Given the description of an element on the screen output the (x, y) to click on. 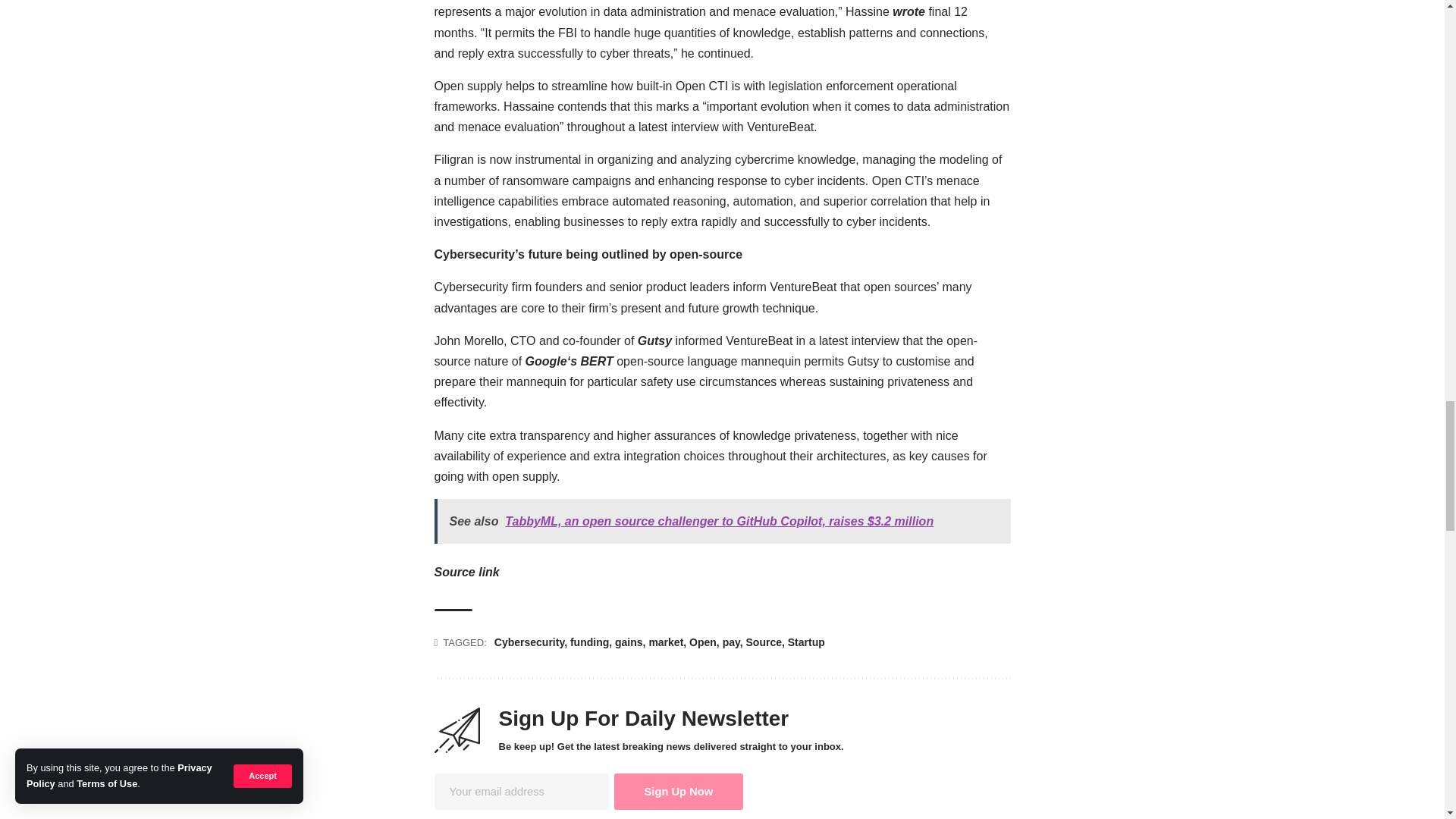
Sign Up Now (679, 791)
